Given the description of an element on the screen output the (x, y) to click on. 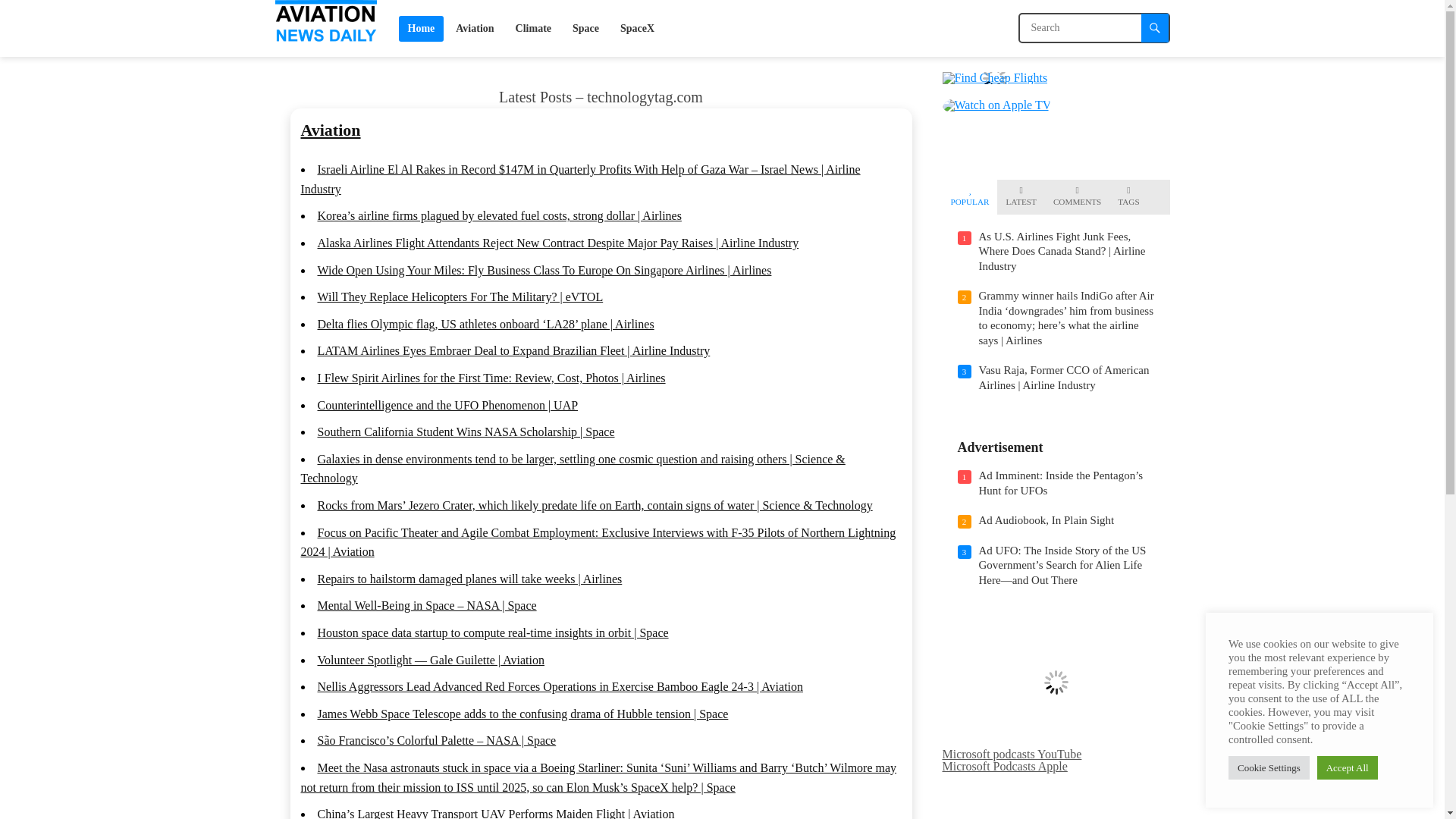
Aviation (329, 129)
Climate (533, 28)
Find Cheap Flights (994, 77)
Tags (1128, 196)
Popular (970, 196)
Latest (1020, 196)
Aviation (474, 28)
Comments (1076, 196)
SpaceX (637, 28)
Official, ongoing Microsoft podcasts via Apple. (1004, 766)
